Given the description of an element on the screen output the (x, y) to click on. 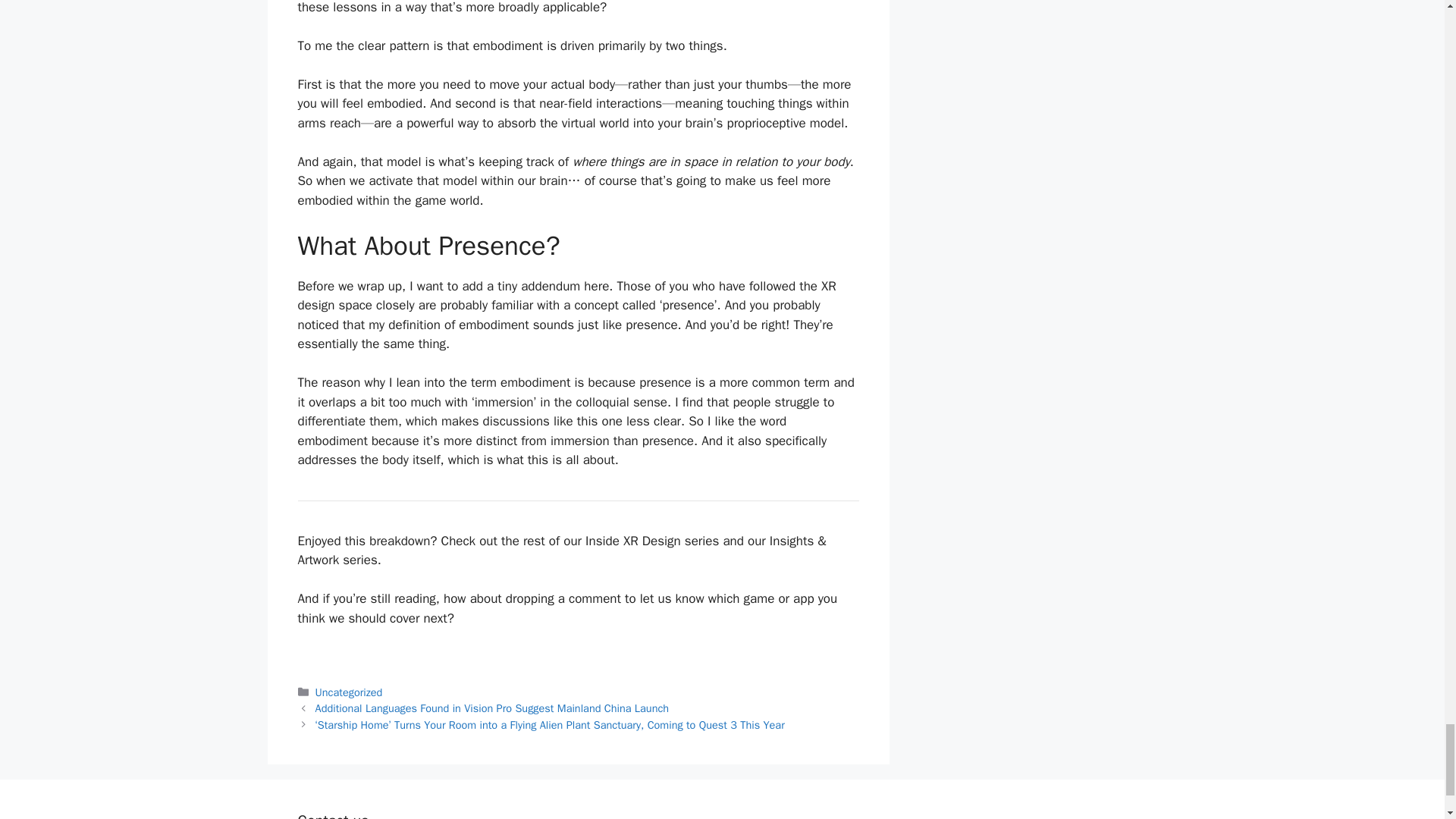
Uncategorized (348, 692)
